Given the description of an element on the screen output the (x, y) to click on. 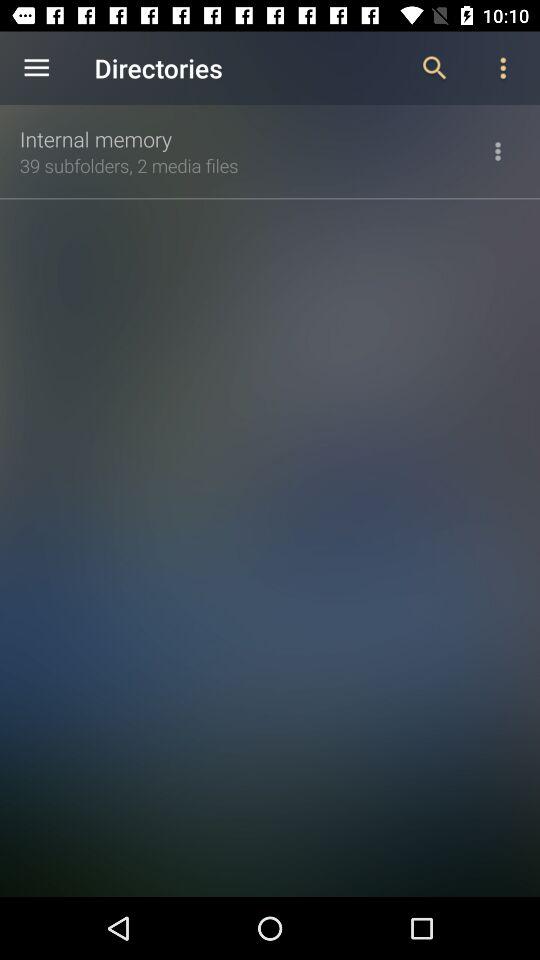
turn off the icon next to the directories (36, 68)
